Given the description of an element on the screen output the (x, y) to click on. 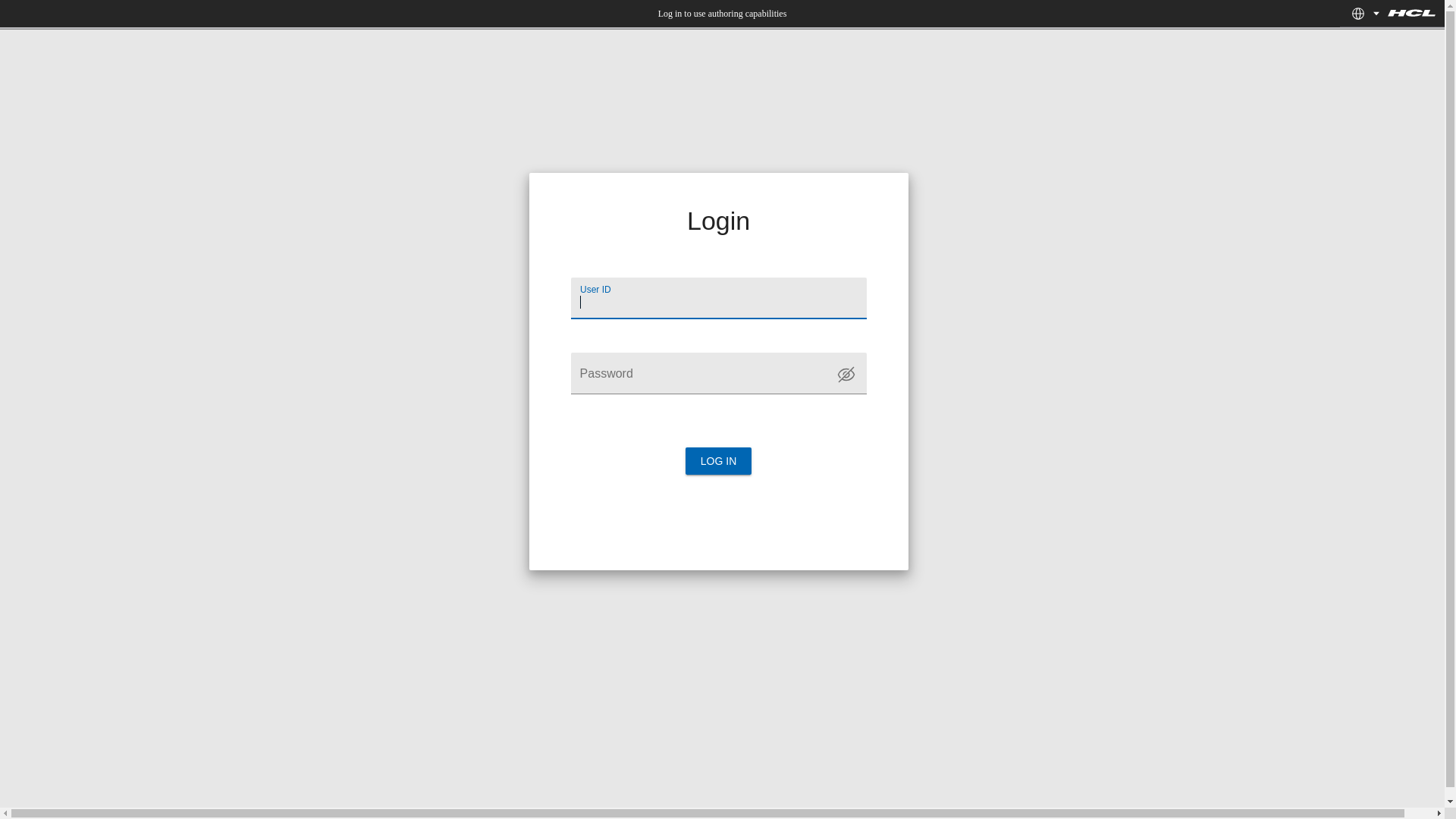
LOG IN Element type: text (718, 460)
Log in to use authoring capabilities Element type: text (722, 13)
